Given the description of an element on the screen output the (x, y) to click on. 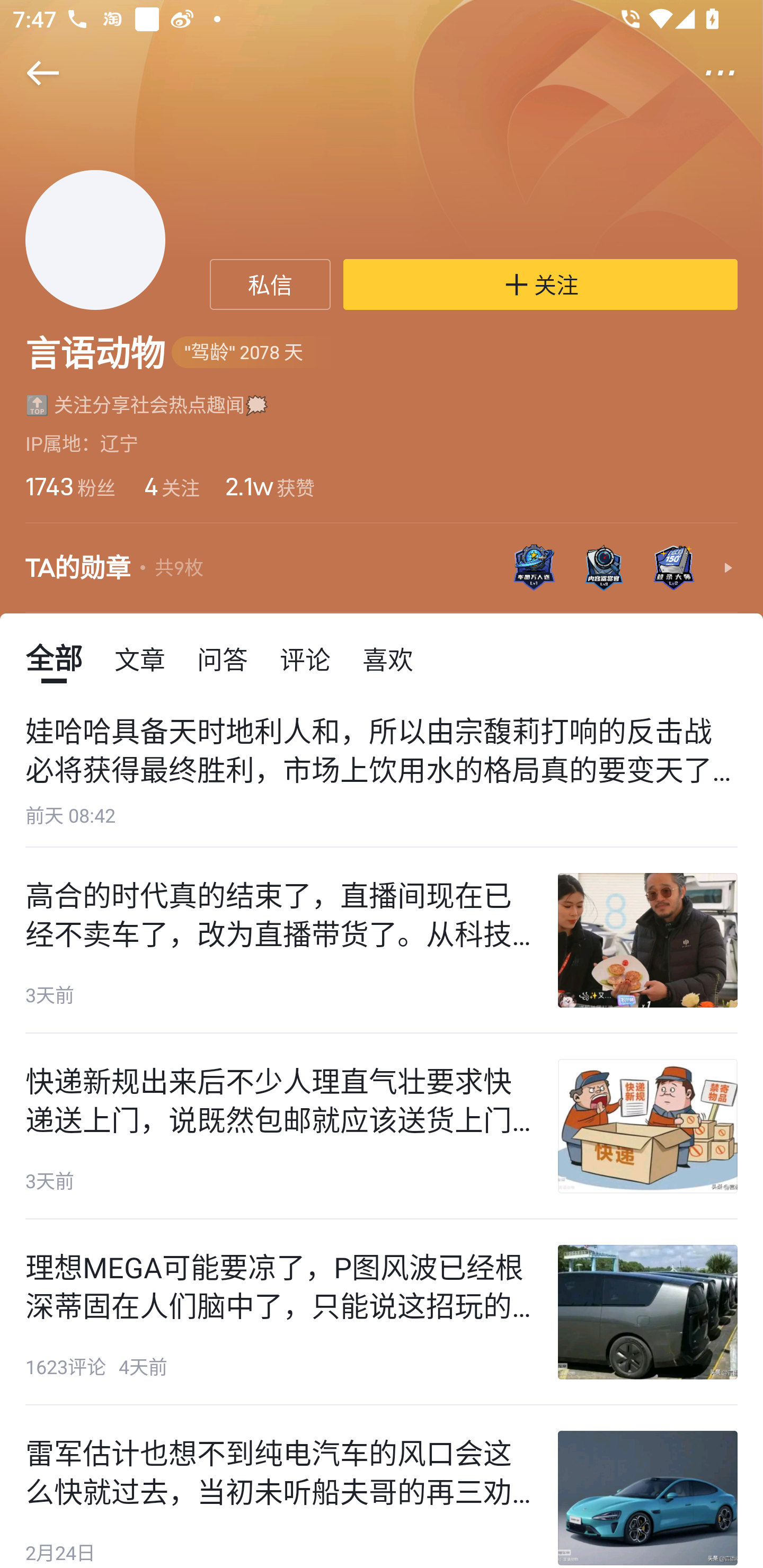
 (30, 72)
 (732, 72)
私信 (269, 284)
 关注 (540, 284)
"驾龄" 2078 天 (253, 352)
1743 粉丝 (70, 485)
4 关注 (170, 485)
2.1w 获赞 (269, 485)
TA的勋章 共9枚  (381, 568)
全部 (53, 657)
文章 (139, 657)
问答 (221, 657)
评论 (305, 657)
喜欢 (387, 657)
